Given the description of an element on the screen output the (x, y) to click on. 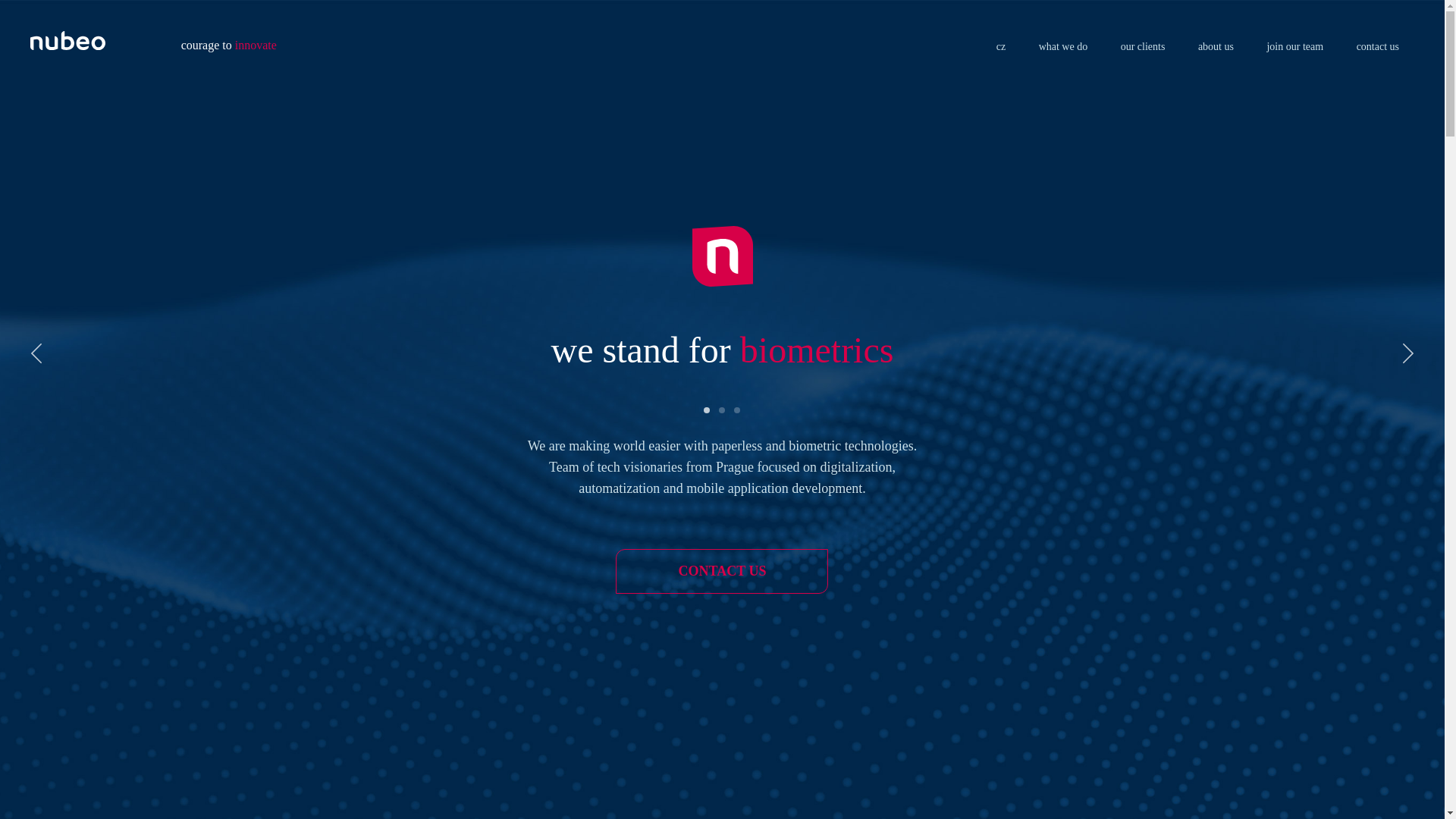
our clients (1143, 46)
1 (707, 410)
2 (722, 410)
CONTACT US (721, 570)
join our team (1294, 46)
about us (1215, 46)
what we do (1063, 46)
contact us (1377, 46)
3 (737, 410)
